Given the description of an element on the screen output the (x, y) to click on. 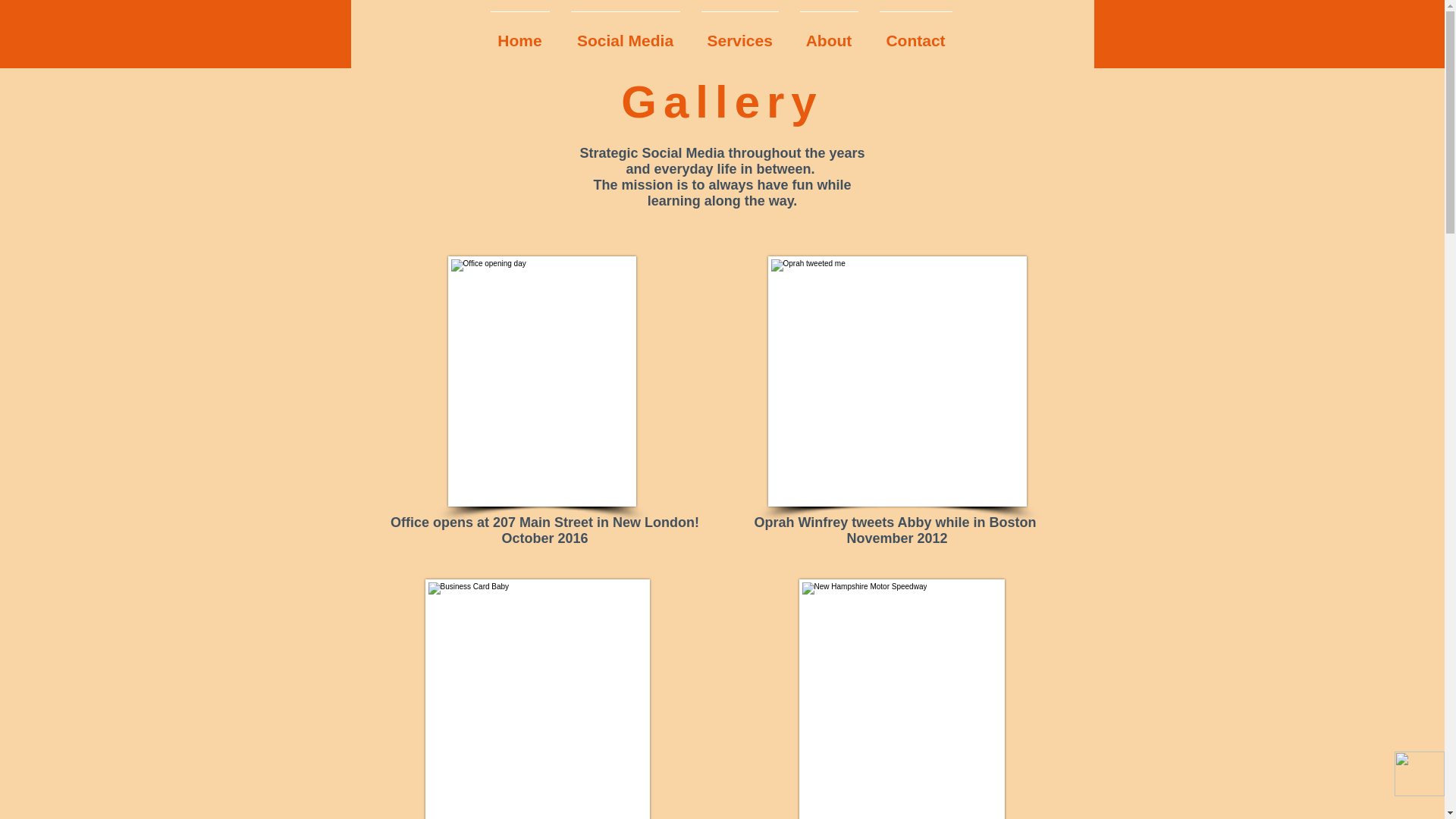
Home (519, 33)
Social Media (624, 33)
About (828, 33)
Services (739, 33)
Contact (915, 33)
